Given the description of an element on the screen output the (x, y) to click on. 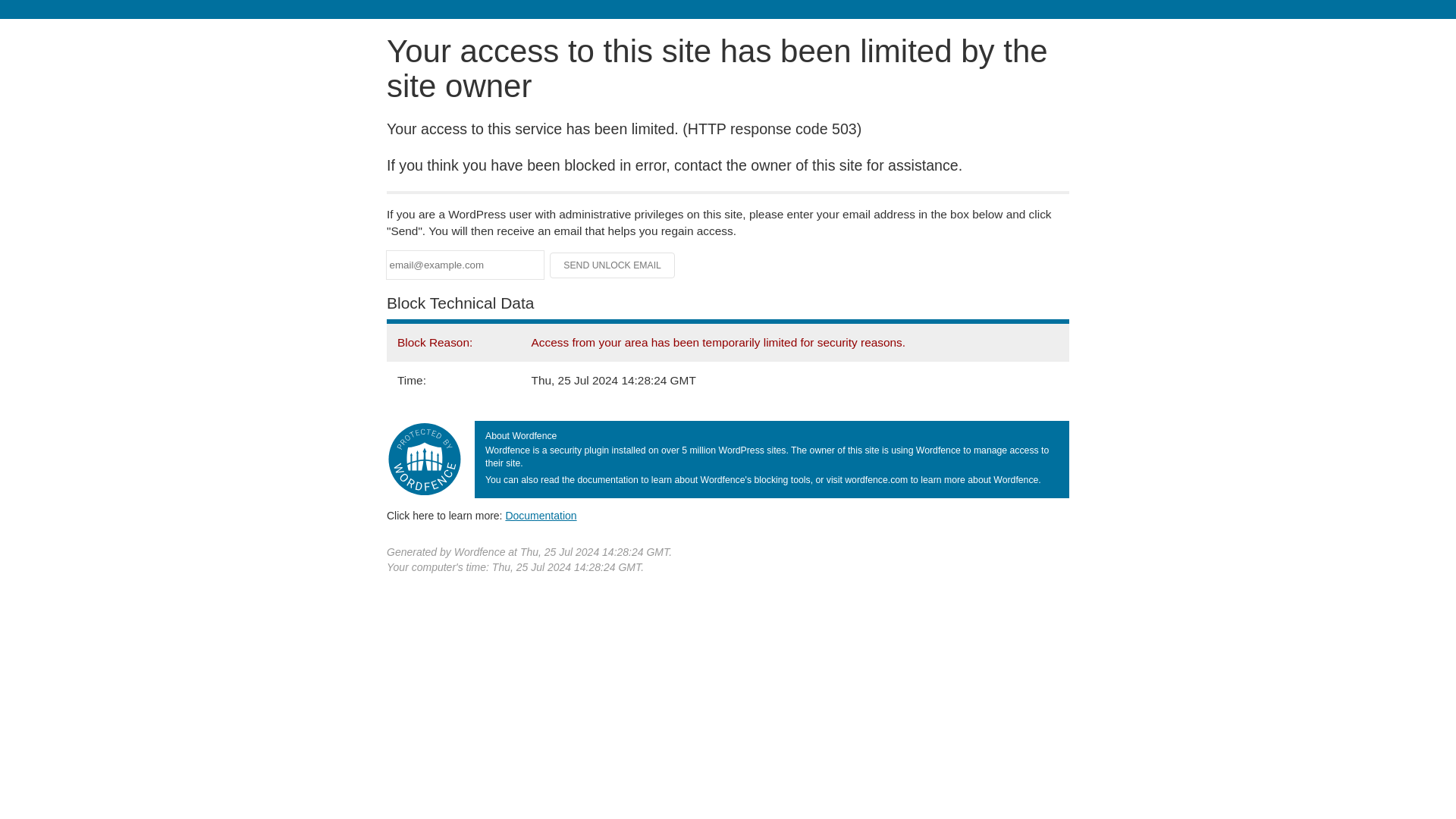
Send Unlock Email (612, 265)
Send Unlock Email (612, 265)
Documentation (540, 515)
